Given the description of an element on the screen output the (x, y) to click on. 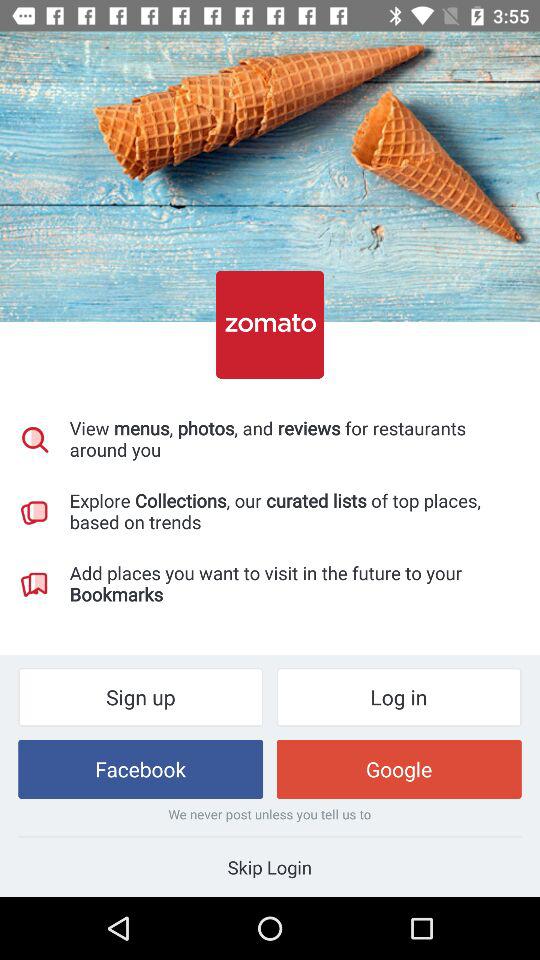
turn off icon next to the google item (140, 768)
